Given the description of an element on the screen output the (x, y) to click on. 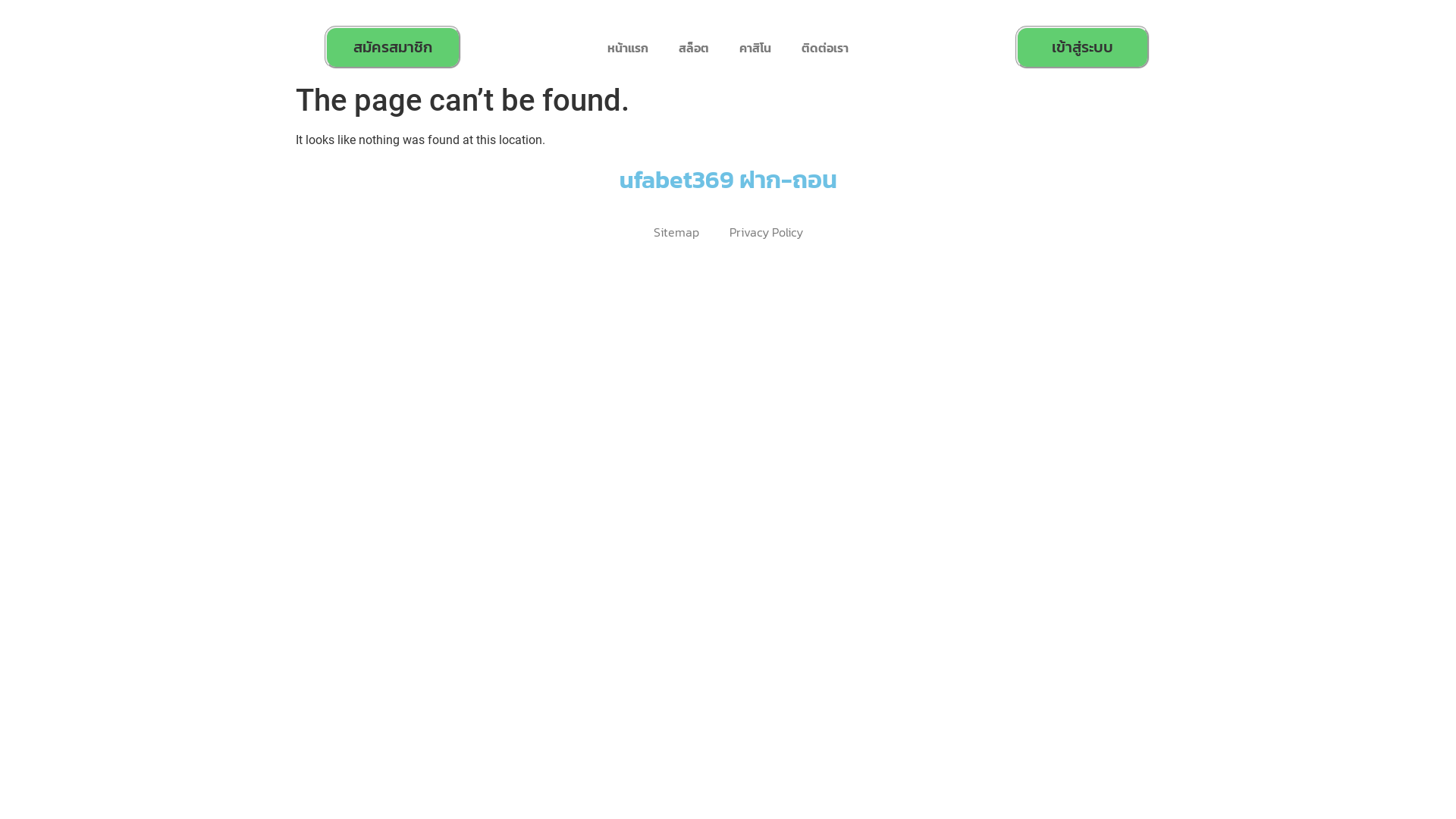
Sitemap Element type: text (676, 232)
Privacy Policy Element type: text (766, 232)
